Given the description of an element on the screen output the (x, y) to click on. 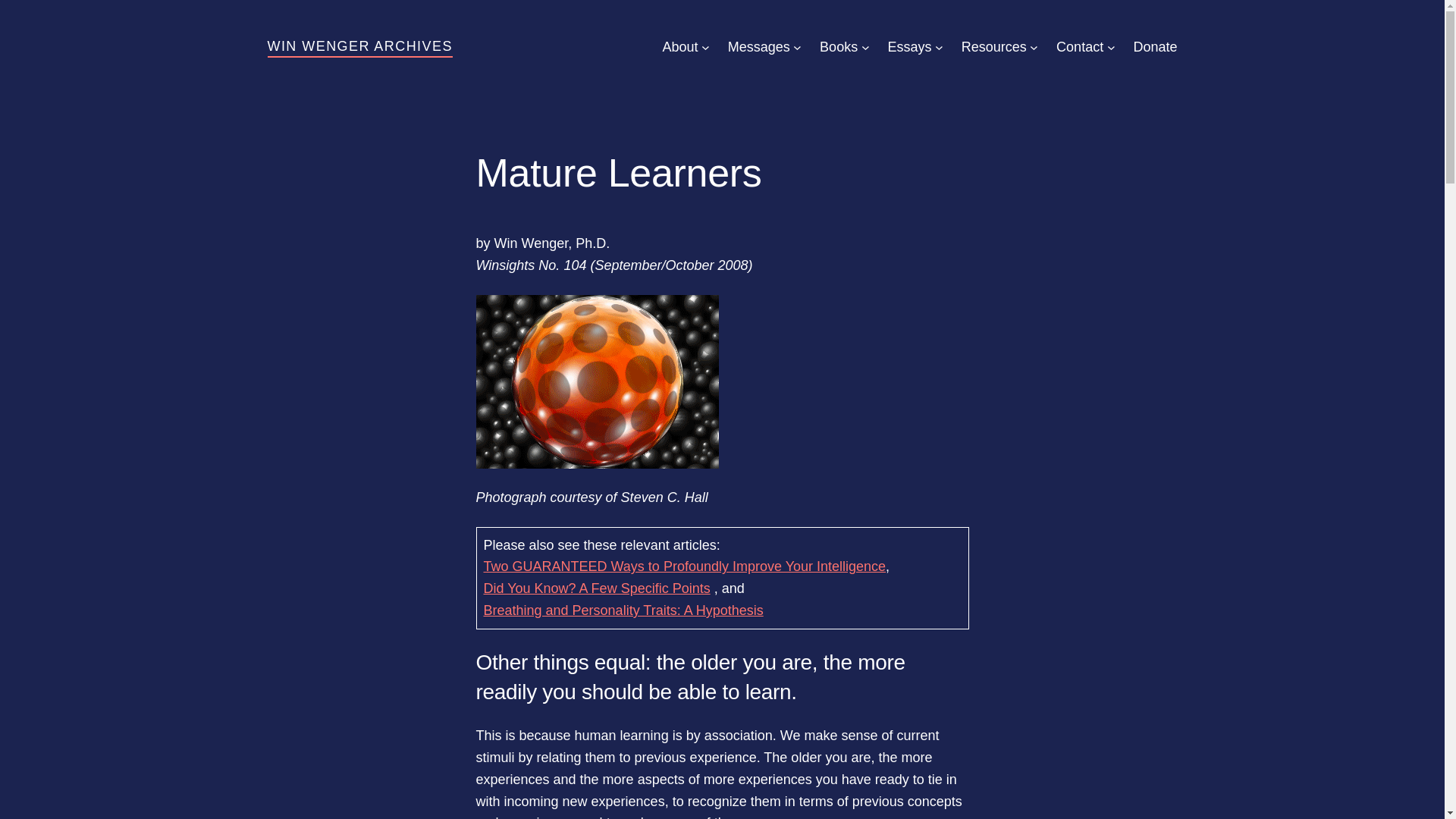
Resources (993, 47)
Essays (908, 47)
Messages (759, 47)
WIN WENGER ARCHIVES (358, 46)
About (679, 47)
Books (838, 47)
